Given the description of an element on the screen output the (x, y) to click on. 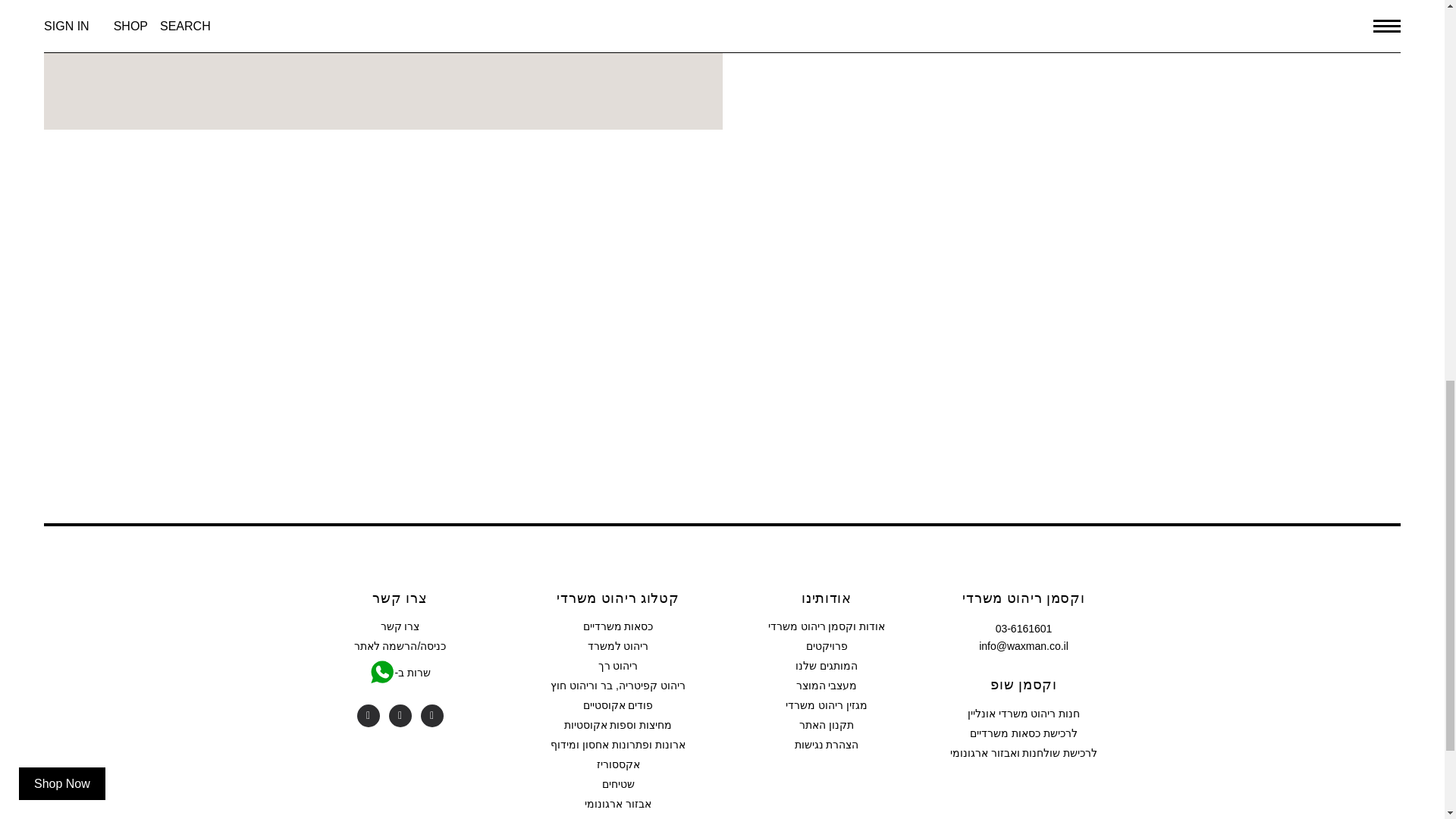
ENZO SOFA,XO TABLE (264, 326)
ENZO,ARUM (721, 326)
ENZO SOFA,XO TABLE,TAO (1179, 326)
